Given the description of an element on the screen output the (x, y) to click on. 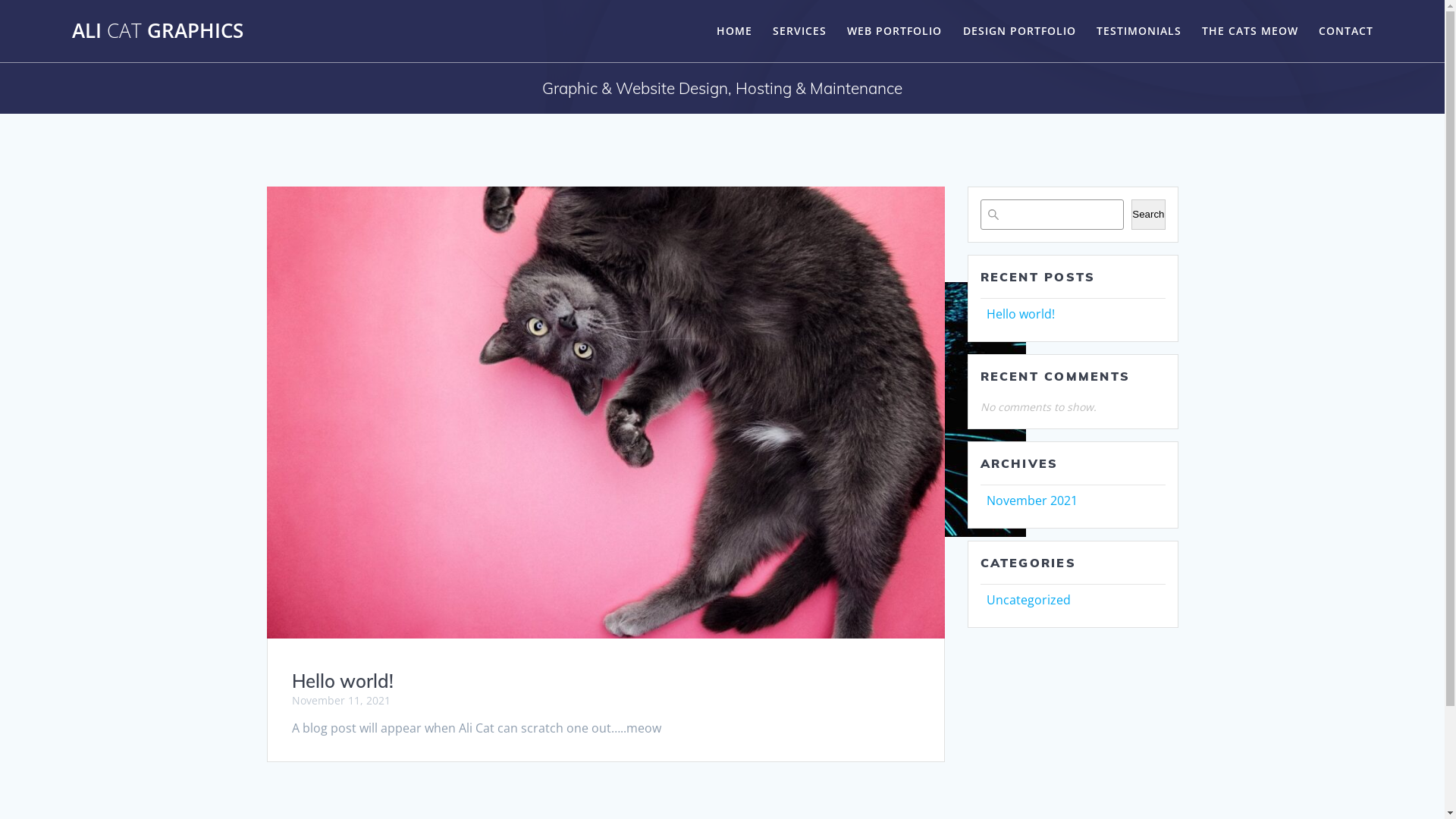
DESIGN PORTFOLIO Element type: text (1019, 30)
WEB PORTFOLIO Element type: text (894, 30)
November 2021 Element type: text (1030, 500)
Search Element type: text (1147, 214)
SERVICES Element type: text (799, 30)
Hello world! Element type: text (1019, 313)
THE CATS MEOW Element type: text (1249, 30)
Hello world! Element type: text (341, 680)
ALI CAT GRAPHICS Element type: text (157, 30)
TESTIMONIALS Element type: text (1138, 30)
Uncategorized Element type: text (1027, 599)
HOME Element type: text (734, 30)
CONTACT Element type: text (1345, 30)
